Given the description of an element on the screen output the (x, y) to click on. 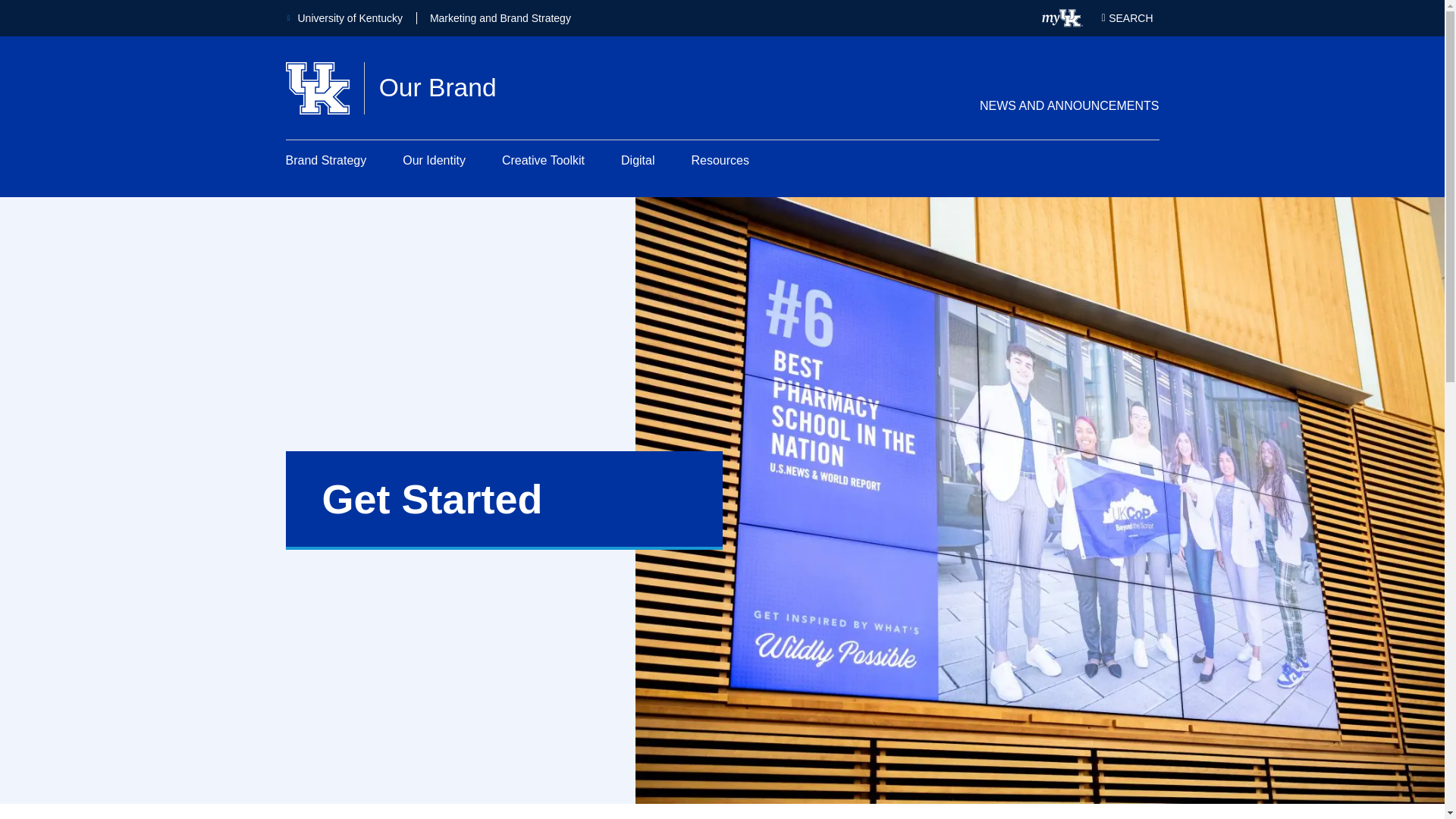
University of Kentucky (344, 18)
Back to University of Kentucky home page (344, 18)
Resources (720, 160)
Marketing and Brand Strategy (499, 18)
Brand Strategy (325, 160)
Our Identity (434, 160)
NEWS AND ANNOUNCEMENTS (1068, 105)
Back to Marketing and Brand Strategy home page (499, 18)
Digital (390, 87)
Log into the myUK portal (637, 160)
Creative Toolkit (1062, 18)
SEARCH (543, 160)
